Given the description of an element on the screen output the (x, y) to click on. 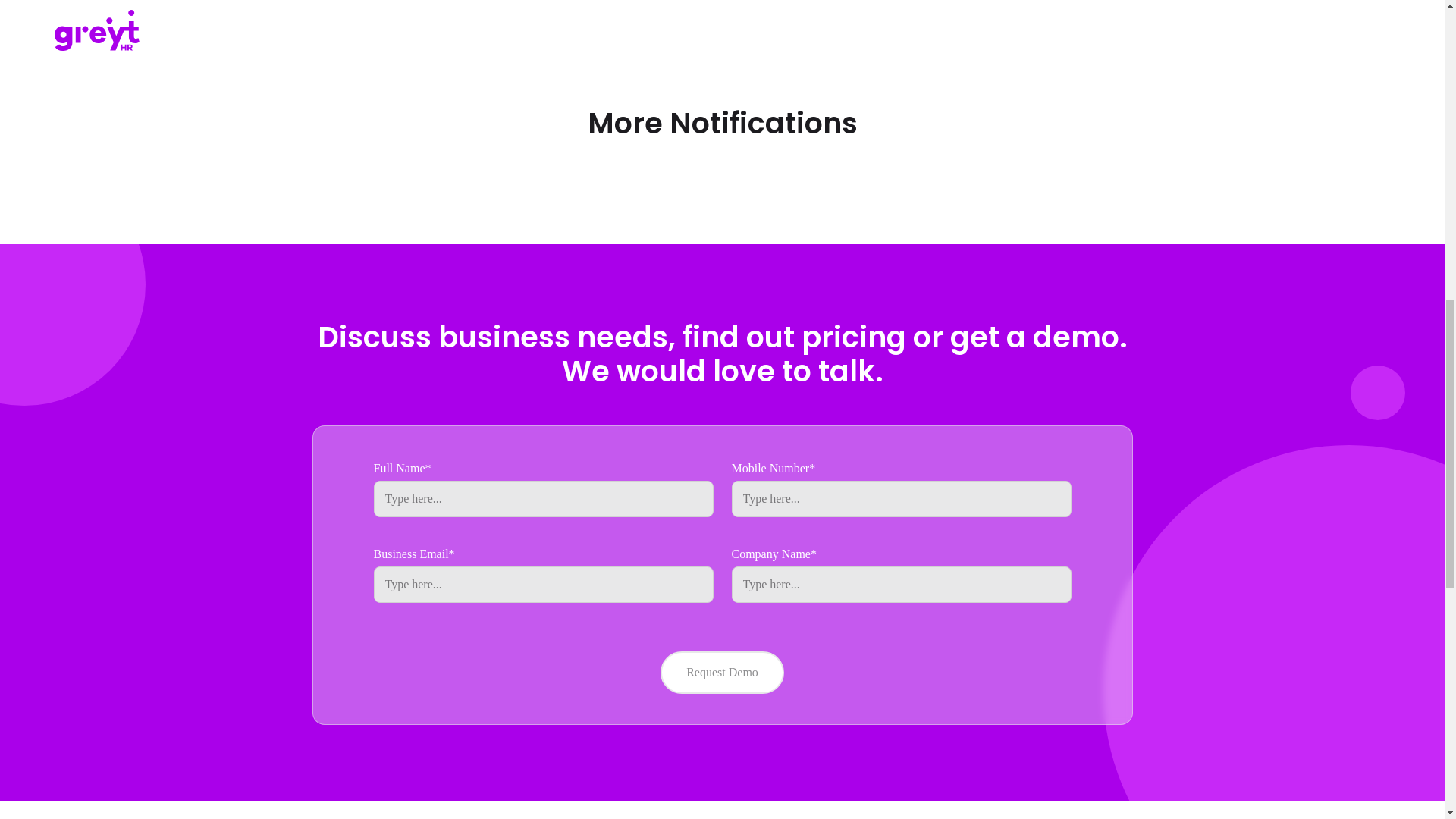
Download Official Circular (447, 2)
Request Demo (722, 672)
Download Official Circular (447, 10)
